Given the description of an element on the screen output the (x, y) to click on. 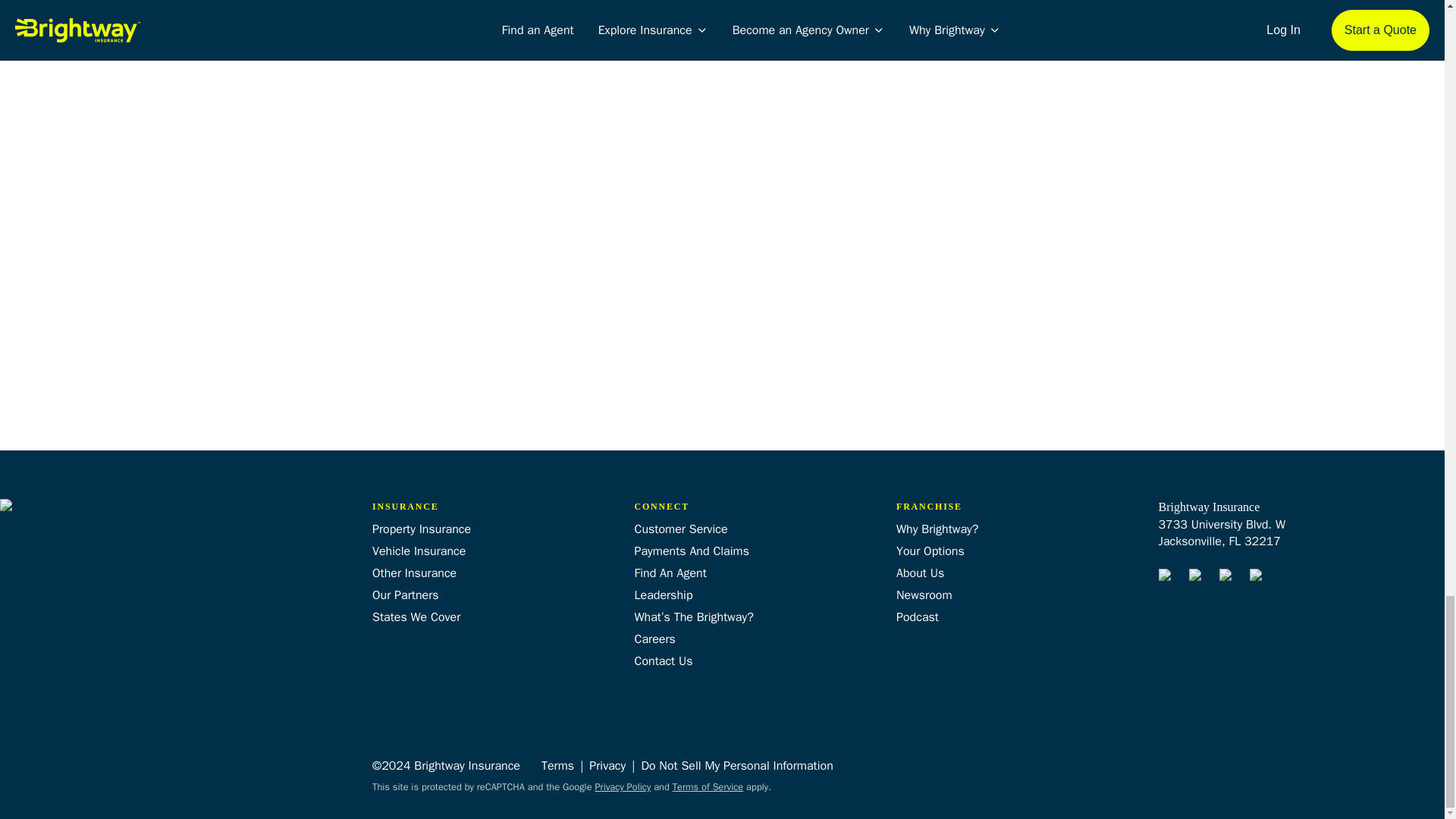
Customer Service (679, 528)
States We Cover (416, 617)
Property Insurance (421, 528)
Footer Linkedin Icon (1258, 577)
Footer Youtube Icon (1228, 577)
Vehicle Insurance (418, 550)
Other Insurance (414, 573)
Footer Instagram Icon (1198, 577)
Our Partners (405, 595)
Footer Facebook Logo (1167, 577)
